Given the description of an element on the screen output the (x, y) to click on. 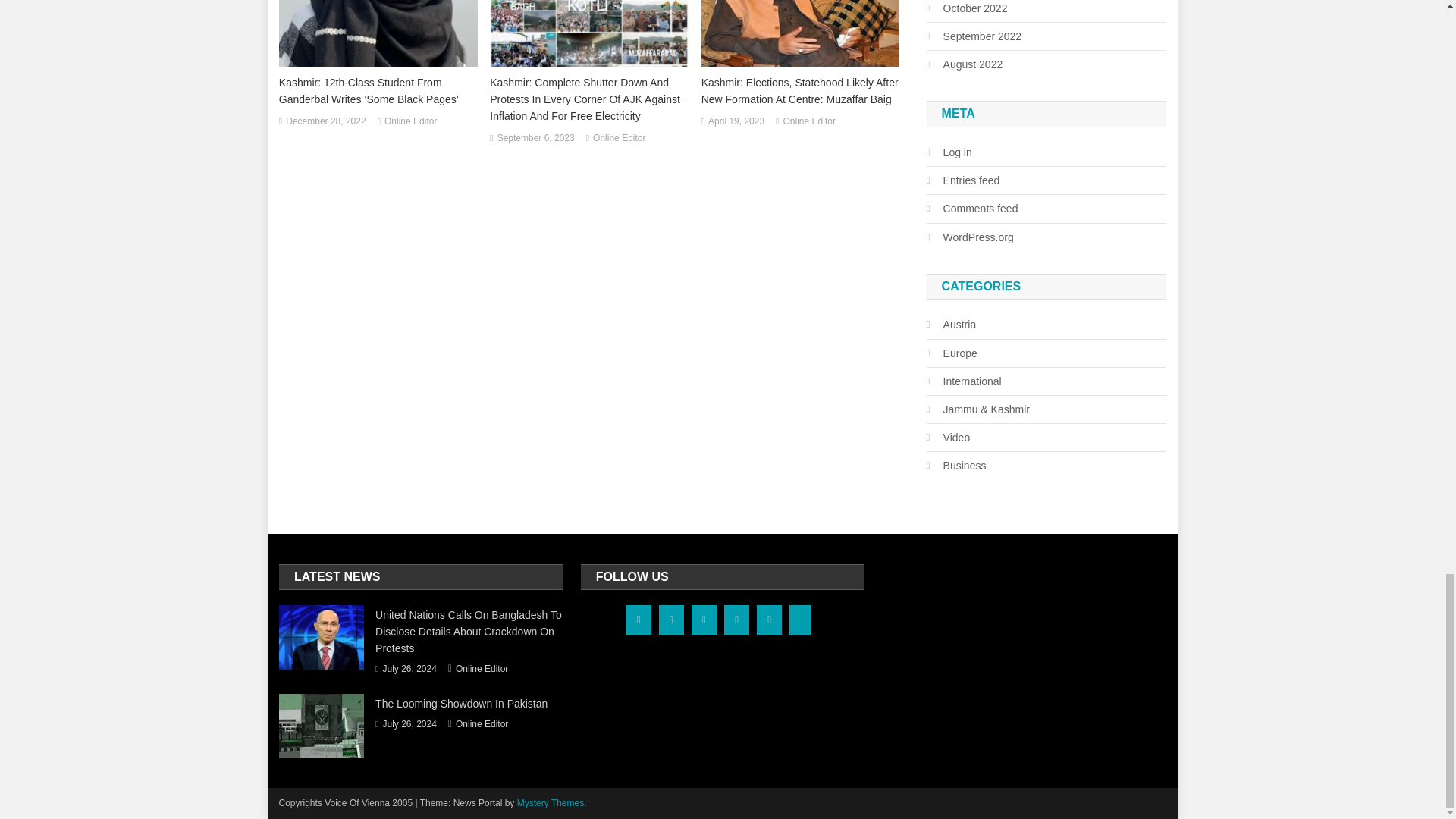
Online Editor (618, 138)
December 28, 2022 (325, 121)
Online Editor (809, 121)
September 6, 2023 (536, 138)
April 19, 2023 (735, 121)
Online Editor (410, 121)
